Given the description of an element on the screen output the (x, y) to click on. 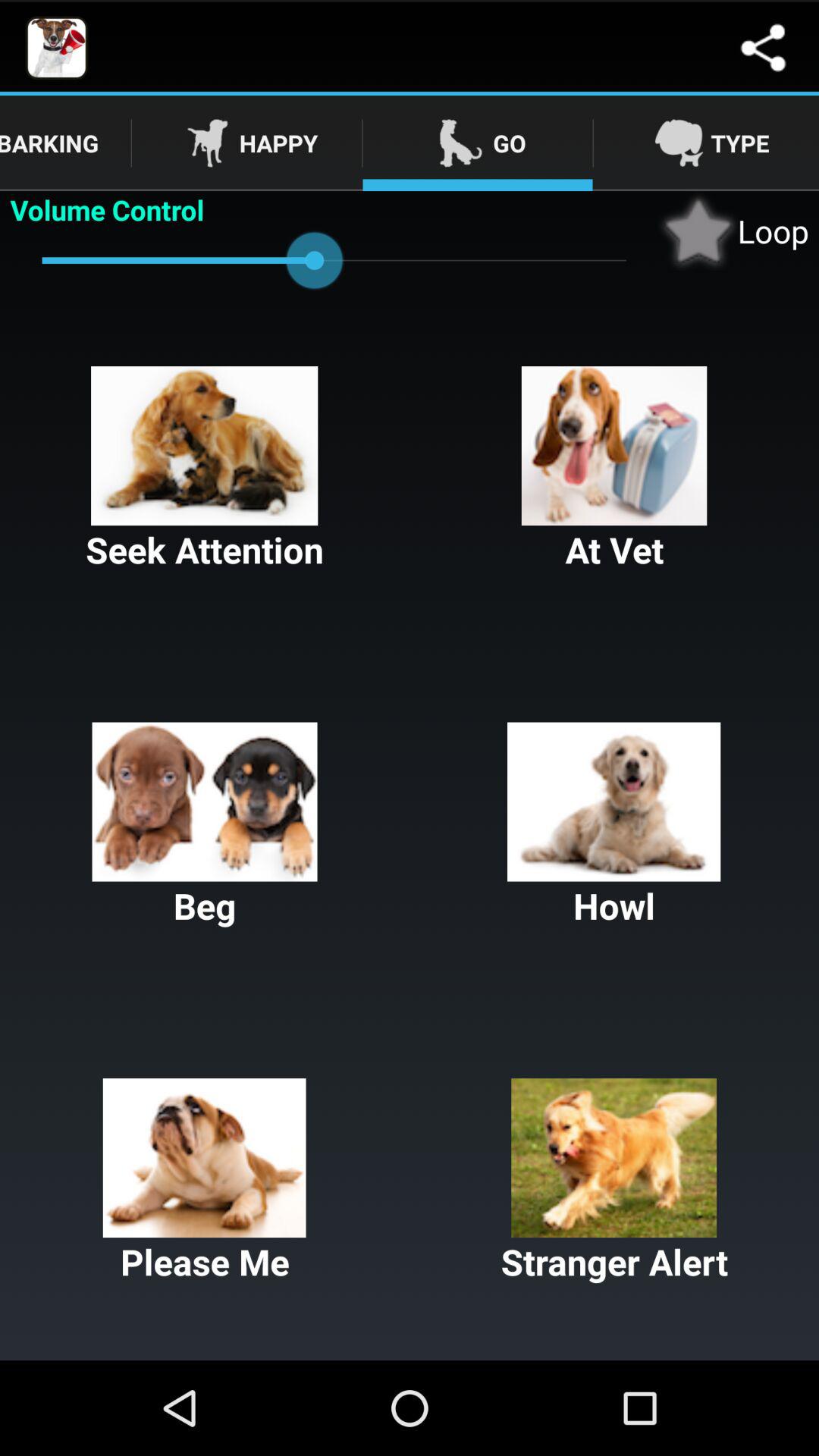
turn on the button below seek attention button (204, 825)
